Given the description of an element on the screen output the (x, y) to click on. 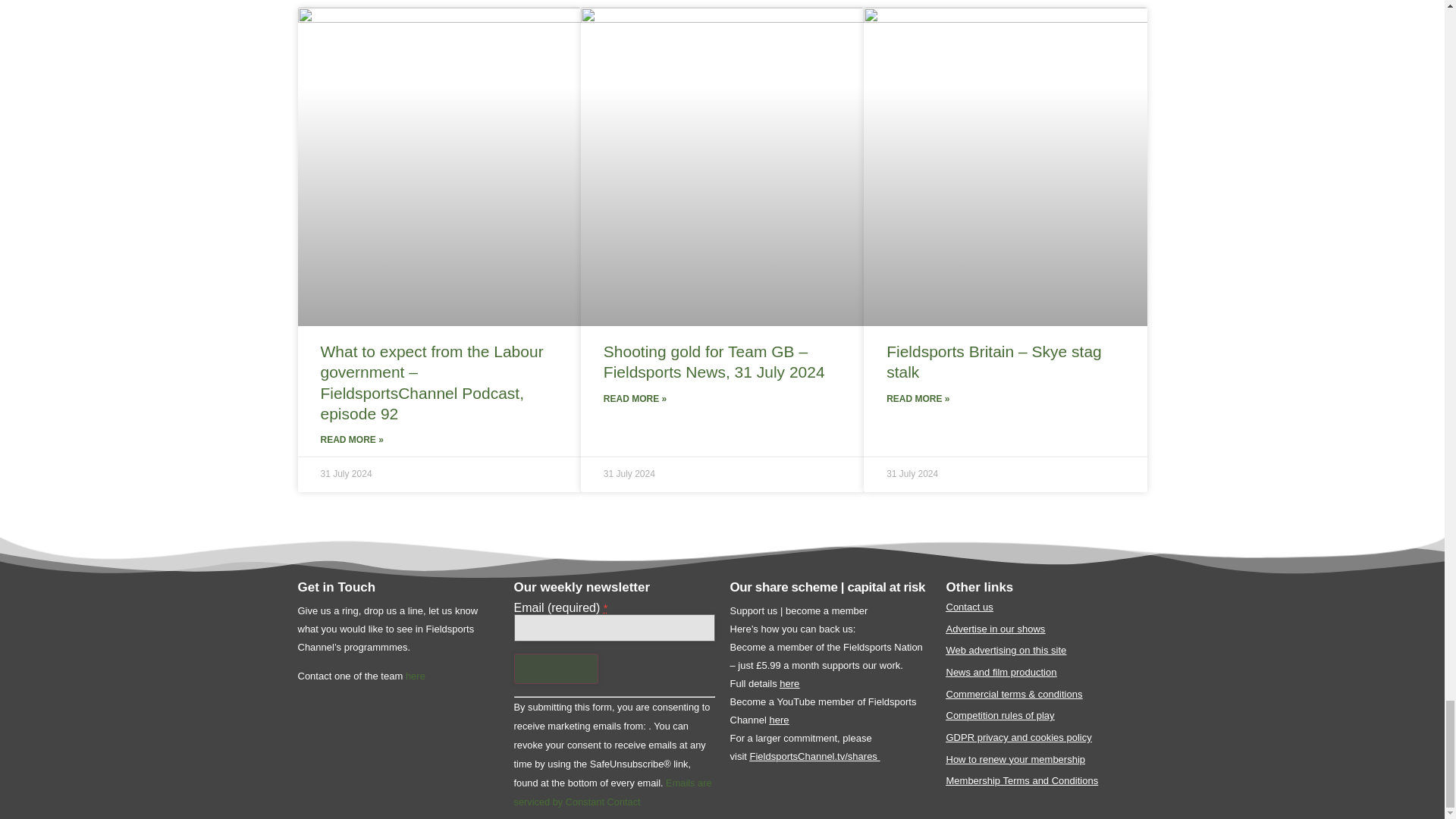
Sign up (555, 668)
